Given the description of an element on the screen output the (x, y) to click on. 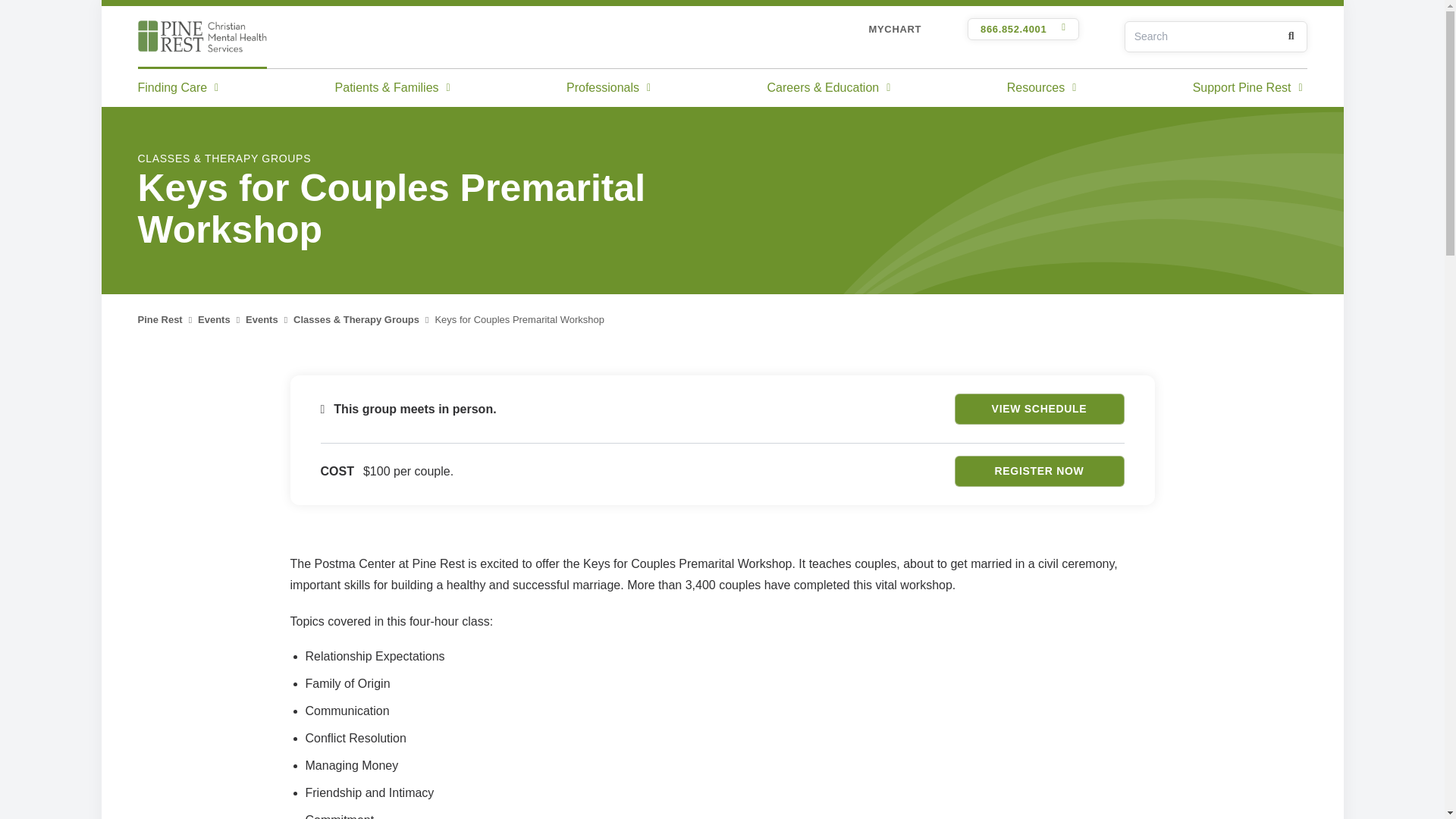
Go to Pine Rest. (160, 319)
MYCHART (894, 29)
866.852.4001 (1023, 29)
Go to Events. (214, 319)
Go to Events. (262, 319)
Finding Care (181, 86)
